Given the description of an element on the screen output the (x, y) to click on. 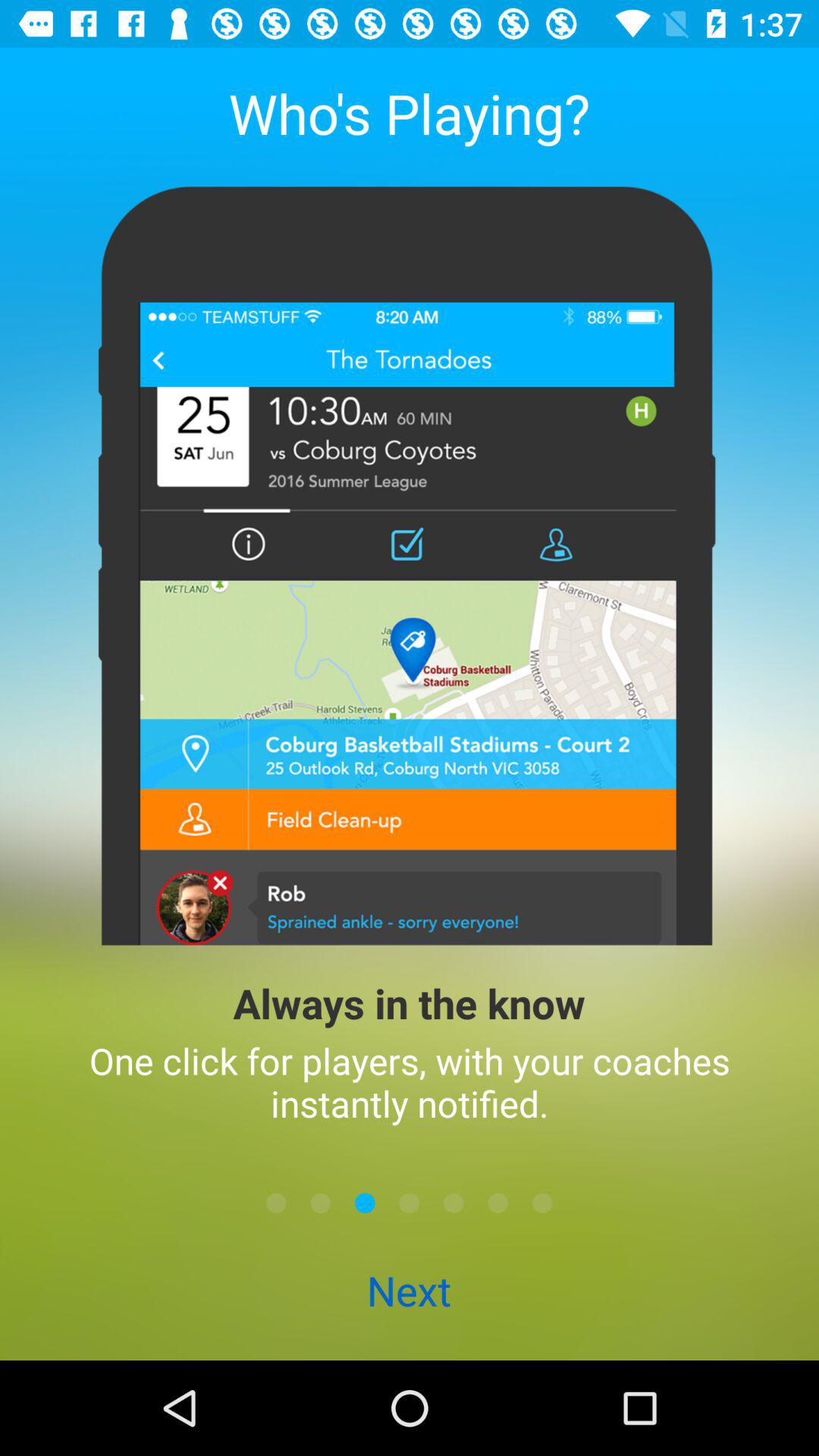
go to next page (320, 1203)
